Given the description of an element on the screen output the (x, y) to click on. 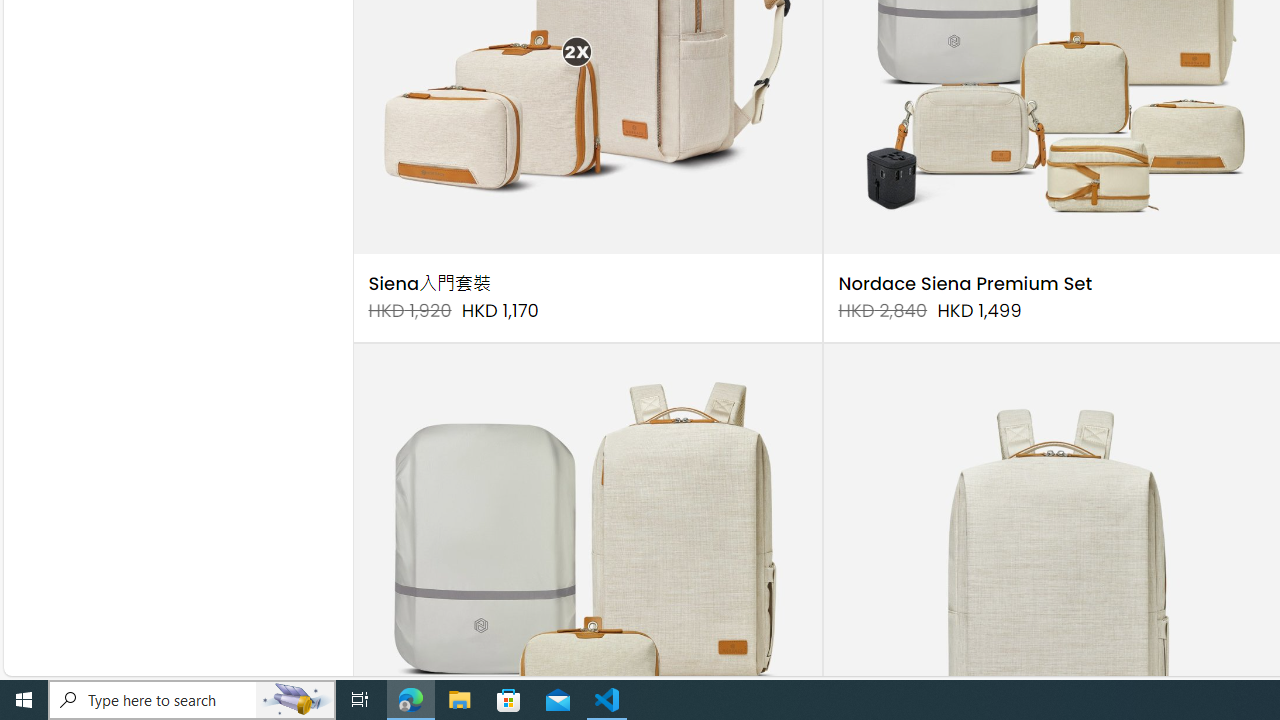
Nordace Siena Premium Set (965, 283)
